Given the description of an element on the screen output the (x, y) to click on. 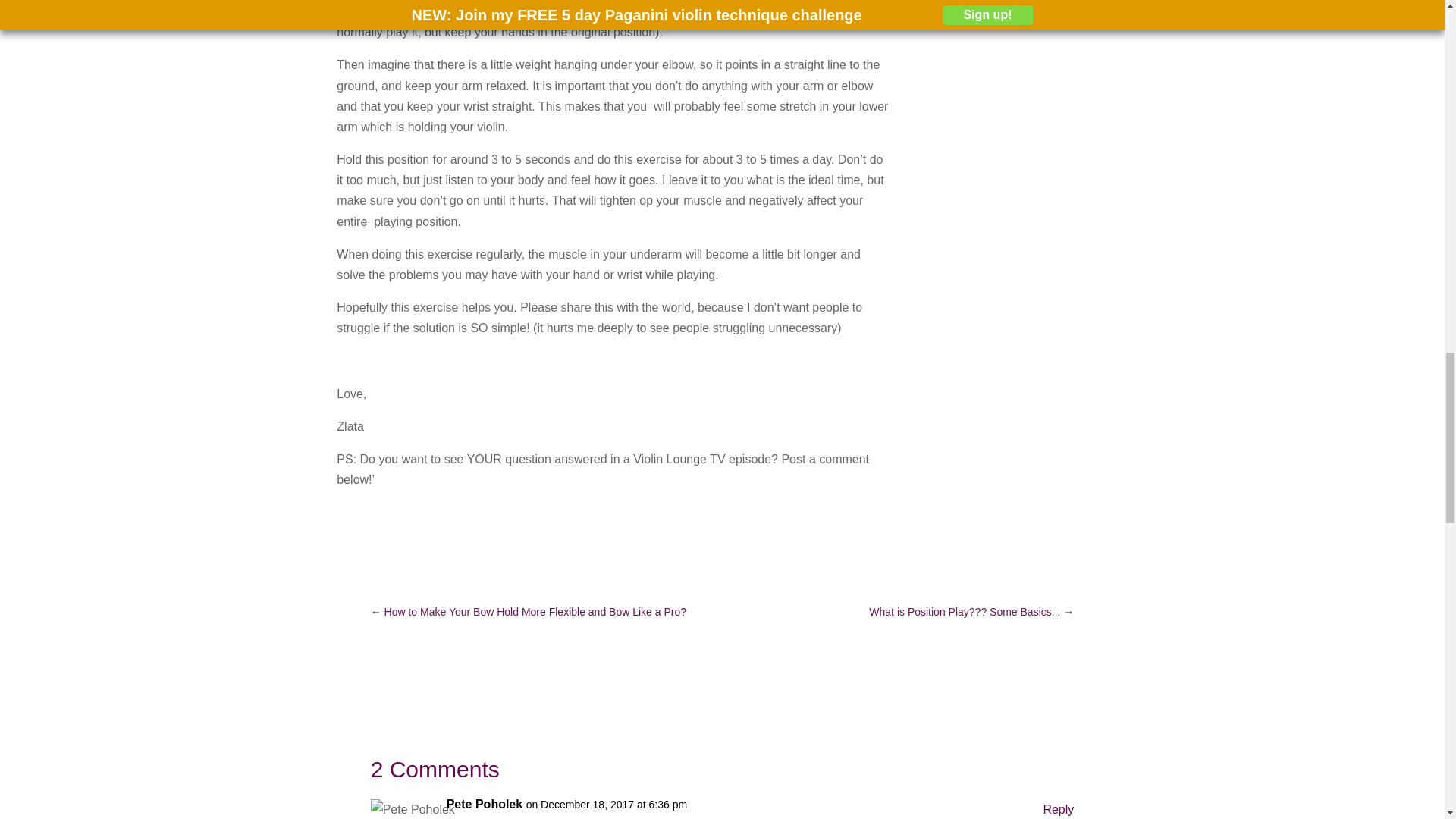
Reply (1058, 809)
